Given the description of an element on the screen output the (x, y) to click on. 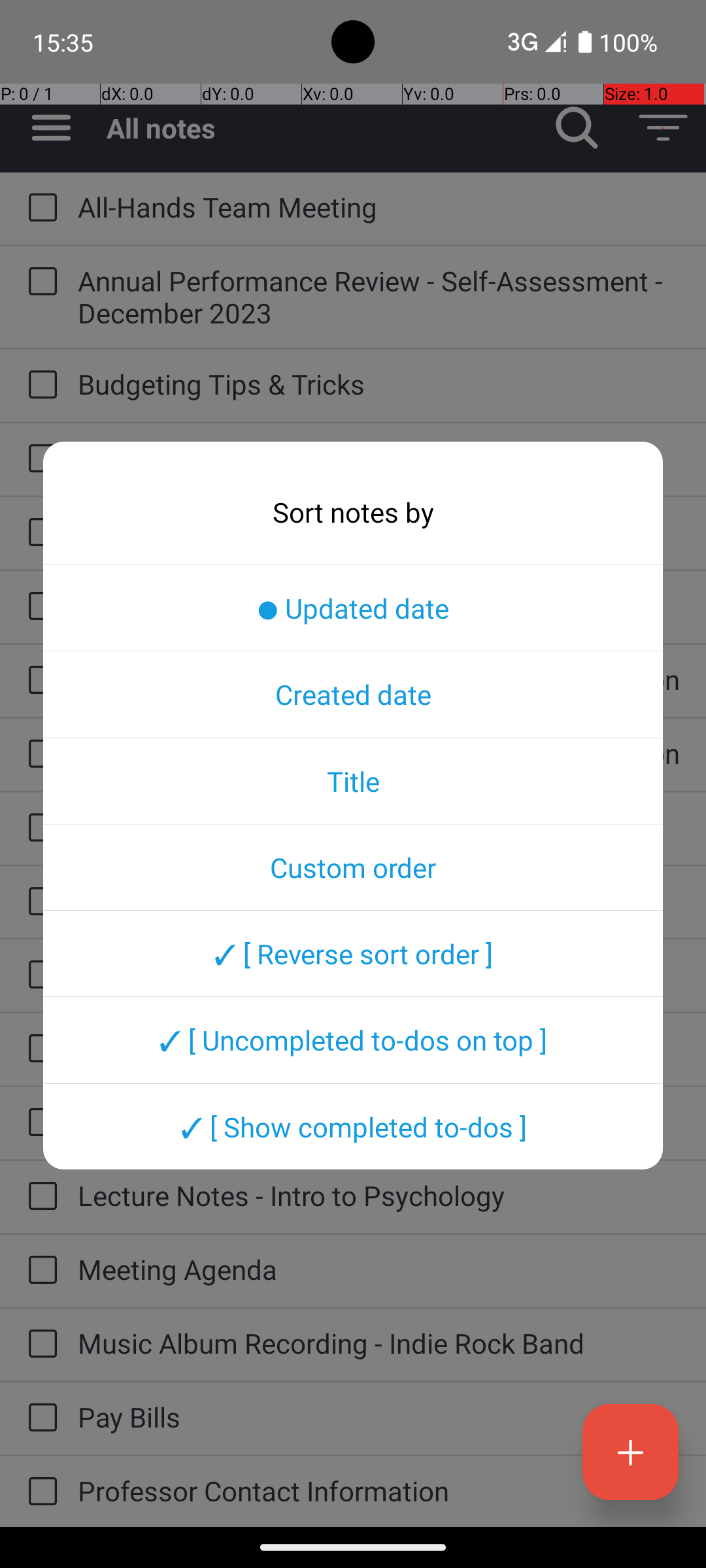
Sort notes by Element type: android.widget.TextView (353, 511)
Sidebar Element type: android.widget.Button (44, 127)
All notes Element type: android.widget.TextView (320, 127)
Add new, collapsed Element type: android.widget.Button (630, 1452)
⬤ Updated date Element type: android.widget.TextView (352, 607)
Created date Element type: android.widget.TextView (352, 693)
Title Element type: android.widget.TextView (352, 780)
Custom order Element type: android.widget.TextView (352, 866)
✓ [ Reverse sort order ] Element type: android.widget.TextView (352, 953)
✓ [ Uncompleted to-dos on top ] Element type: android.widget.TextView (352, 1039)
✓ [ Show completed to-dos ] Element type: android.widget.TextView (352, 1126)
 Element type: android.widget.TextView (51, 127)
 Element type: android.widget.TextView (576, 127)
 Element type: android.widget.TextView (663, 127)
 Element type: android.widget.TextView (630, 1451)
to-do: All-Hands Team Meeting Element type: android.widget.CheckBox (38, 208)
All-Hands Team Meeting Element type: android.widget.TextView (378, 206)
to-do: Annual Performance Review - Self-Assessment - December 2023 Element type: android.widget.CheckBox (38, 282)
Annual Performance Review - Self-Assessment - December 2023 Element type: android.widget.TextView (378, 296)
to-do: Budgeting Tips & Tricks Element type: android.widget.CheckBox (38, 385)
Budgeting Tips & Tricks Element type: android.widget.TextView (378, 383)
to-do: Community Garden Project Element type: android.widget.CheckBox (38, 459)
Community Garden Project Element type: android.widget.TextView (378, 457)
to-do: Documentary Film - Local Environmental Issues Element type: android.widget.CheckBox (38, 533)
Documentary Film - Local Environmental Issues Element type: android.widget.TextView (378, 531)
to-do: Eco-Friendly Cleaning Products Element type: android.widget.CheckBox (38, 606)
Eco-Friendly Cleaning Products Element type: android.widget.TextView (378, 604)
to-do: Essay Draft - The Role of Technology in Education Element type: android.widget.CheckBox (38, 680)
Essay Draft - The Role of Technology in Education Element type: android.widget.TextView (378, 678)
to-do: Financial Advisor Contact Information Element type: android.widget.CheckBox (38, 828)
Financial Advisor Contact Information Element type: android.widget.TextView (378, 826)
to-do: Financial Goals for 2024 Element type: android.widget.CheckBox (38, 902)
Financial Goals for 2024 Element type: android.widget.TextView (378, 900)
to-do: Group Project Notes - Marketing Campaign Element type: android.widget.CheckBox (38, 975)
Group Project Notes - Marketing Campaign Element type: android.widget.TextView (378, 973)
to-do: Health Challenges and Solutions Element type: android.widget.CheckBox (38, 1049)
Health Challenges and Solutions Element type: android.widget.TextView (378, 1047)
to-do: Internship Opportunities - Summer 2024 Element type: android.widget.CheckBox (38, 1123)
Internship Opportunities - Summer 2024 Element type: android.widget.TextView (378, 1121)
to-do: Lecture Notes - Intro to Psychology Element type: android.widget.CheckBox (38, 1196)
Lecture Notes - Intro to Psychology Element type: android.widget.TextView (378, 1194)
to-do: Meeting Agenda Element type: android.widget.CheckBox (38, 1270)
Meeting Agenda Element type: android.widget.TextView (378, 1268)
to-do: Music Album Recording - Indie Rock Band Element type: android.widget.CheckBox (38, 1344)
Music Album Recording - Indie Rock Band Element type: android.widget.TextView (378, 1342)
to-do: Pay Bills Element type: android.widget.CheckBox (38, 1418)
Pay Bills Element type: android.widget.TextView (378, 1416)
to-do: Professor Contact Information Element type: android.widget.CheckBox (38, 1491)
Professor Contact Information Element type: android.widget.TextView (378, 1490)
 Element type: android.widget.TextView (42, 208)
